Given the description of an element on the screen output the (x, y) to click on. 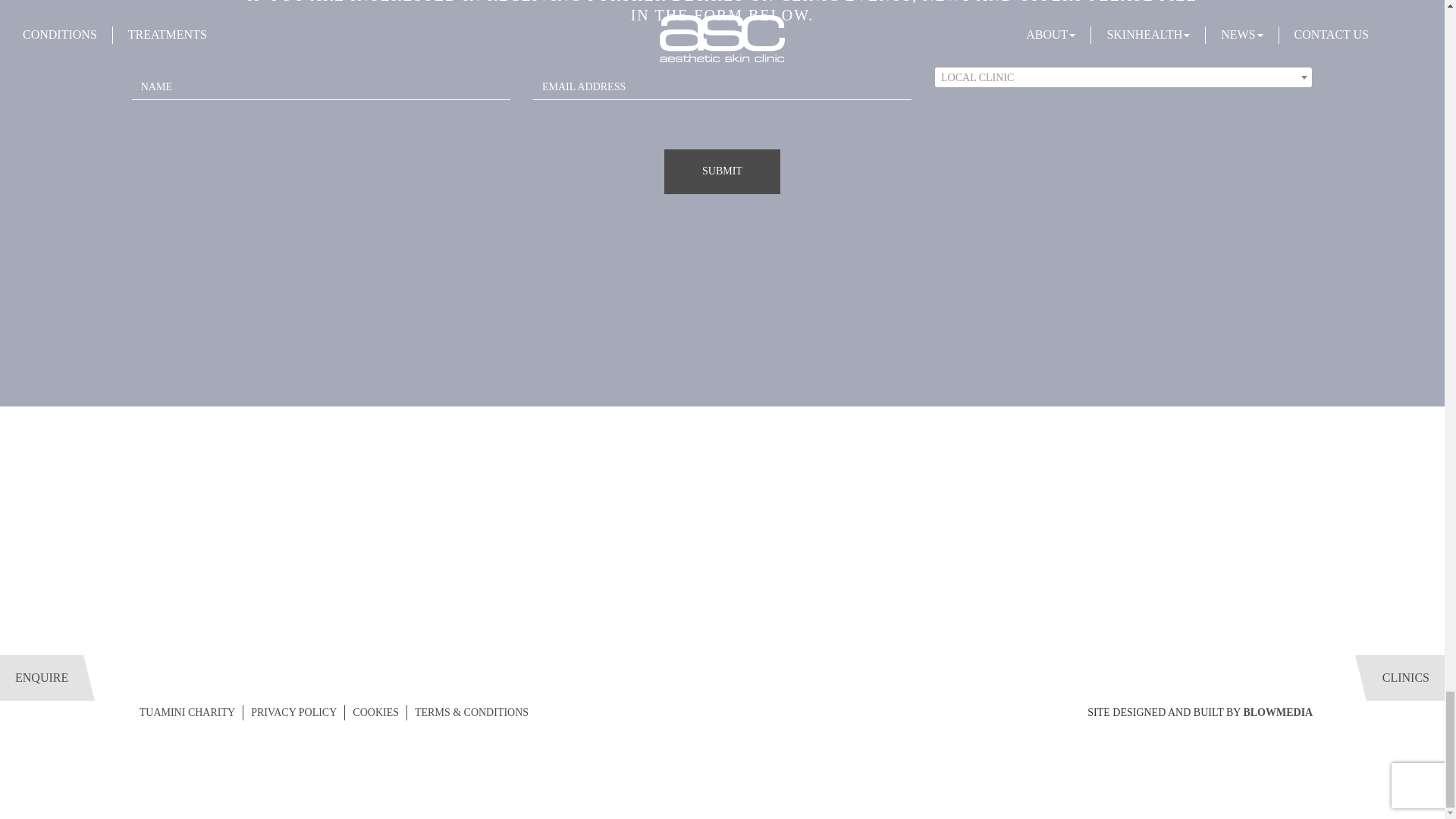
Blowmedia (1278, 712)
